Given the description of an element on the screen output the (x, y) to click on. 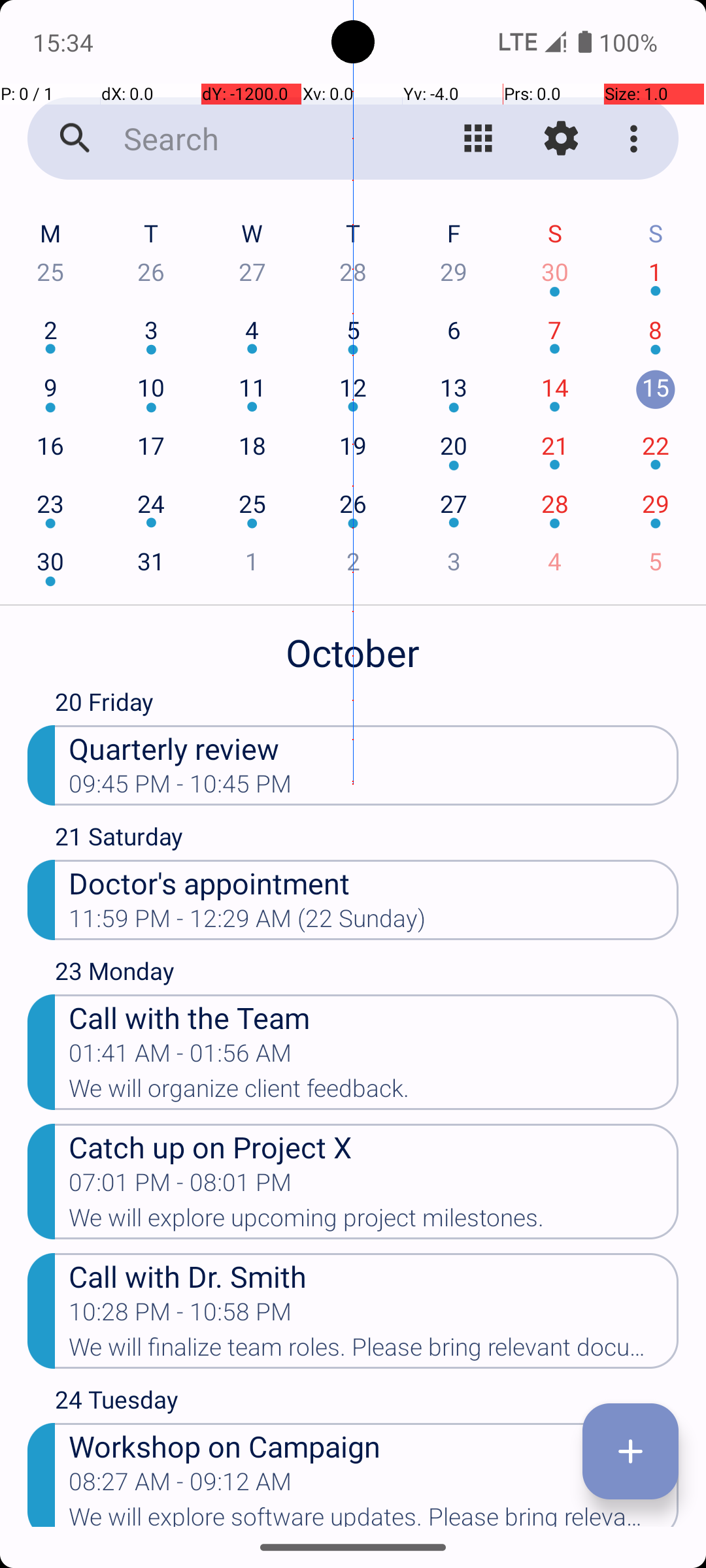
21 Saturday Element type: android.widget.TextView (366, 839)
23 Monday Element type: android.widget.TextView (366, 973)
24 Tuesday Element type: android.widget.TextView (366, 1402)
Quarterly review Element type: android.widget.TextView (373, 747)
09:45 PM - 10:45 PM Element type: android.widget.TextView (179, 787)
Doctor's appointment Element type: android.widget.TextView (373, 881)
11:59 PM - 12:29 AM (22 Sunday) Element type: android.widget.TextView (246, 922)
01:41 AM - 01:56 AM Element type: android.widget.TextView (179, 1056)
We will organize client feedback. Element type: android.widget.TextView (373, 1092)
07:01 PM - 08:01 PM Element type: android.widget.TextView (179, 1186)
We will explore upcoming project milestones. Element type: android.widget.TextView (373, 1221)
10:28 PM - 10:58 PM Element type: android.widget.TextView (179, 1315)
We will finalize team roles. Please bring relevant documents. Element type: android.widget.TextView (373, 1350)
08:27 AM - 09:12 AM Element type: android.widget.TextView (179, 1485)
We will explore software updates. Please bring relevant documents. Element type: android.widget.TextView (373, 1514)
